Given the description of an element on the screen output the (x, y) to click on. 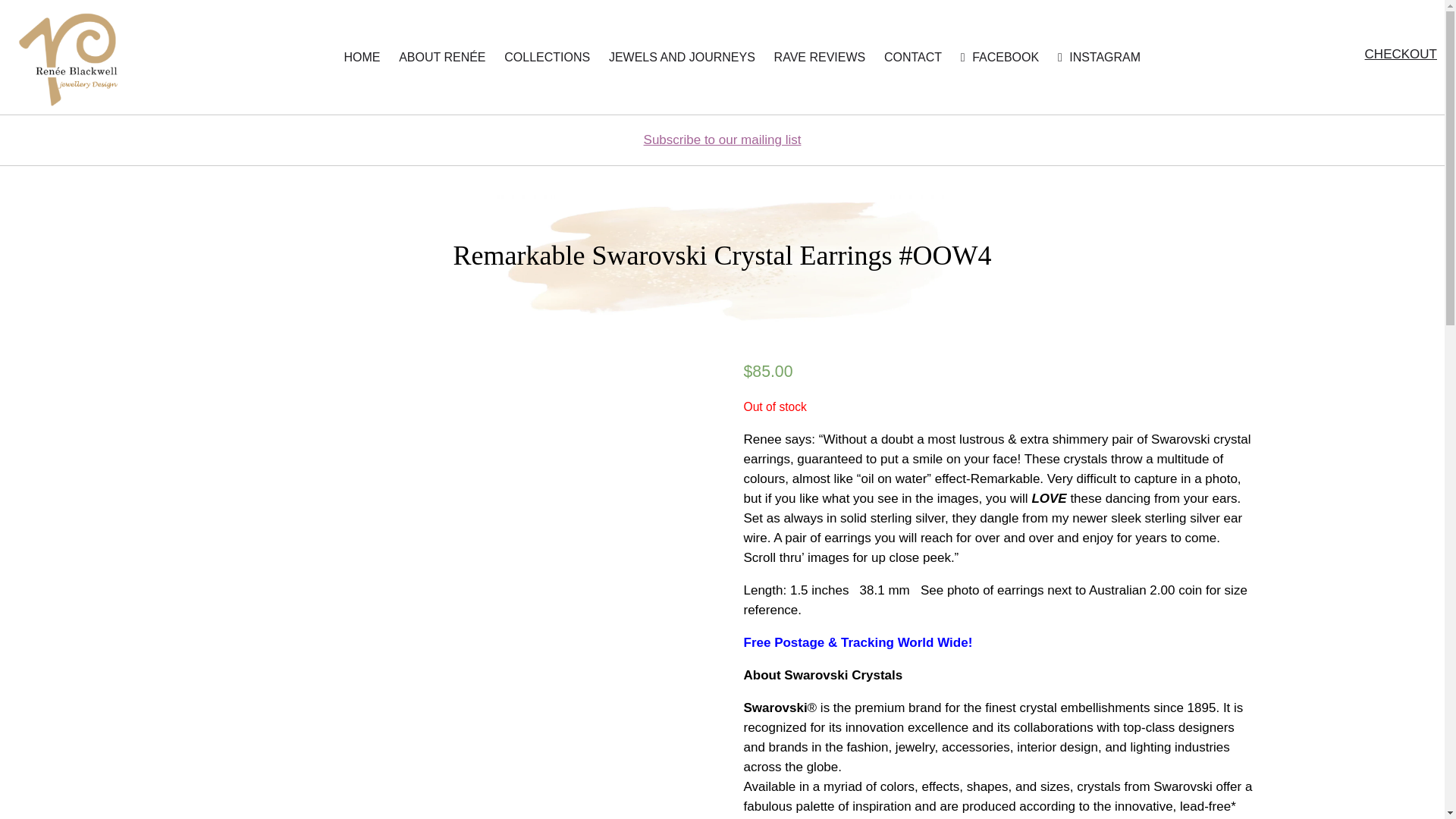
JEWELS AND JOURNEYS (681, 57)
RAVE REVIEWS (820, 57)
Subscribe to our mailing list (722, 139)
